Given the description of an element on the screen output the (x, y) to click on. 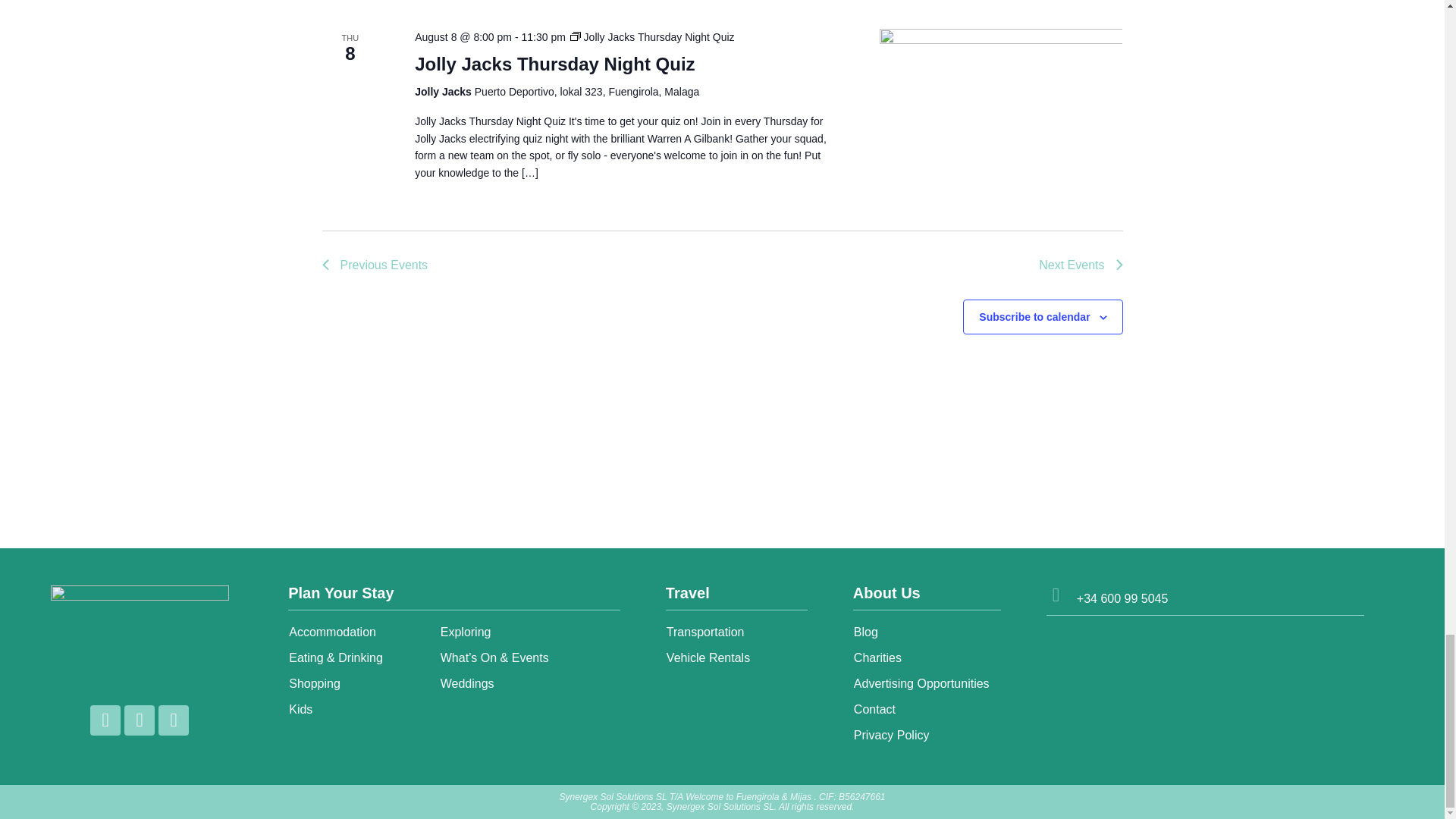
Event Series (575, 35)
